Given the description of an element on the screen output the (x, y) to click on. 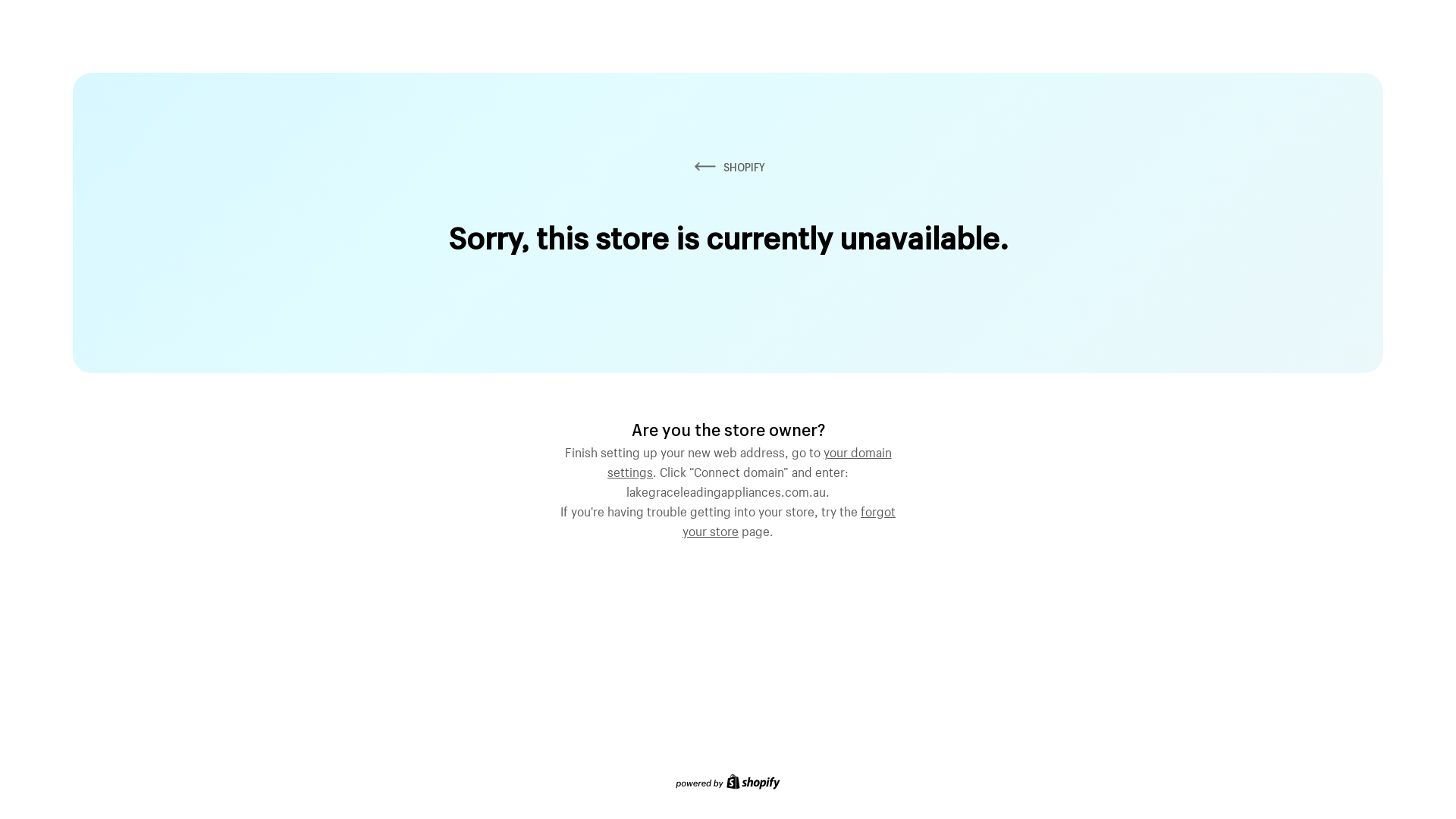
SHOPIFY Element type: text (727, 167)
forgot your store Element type: text (788, 519)
your domain settings Element type: text (749, 460)
